Given the description of an element on the screen output the (x, y) to click on. 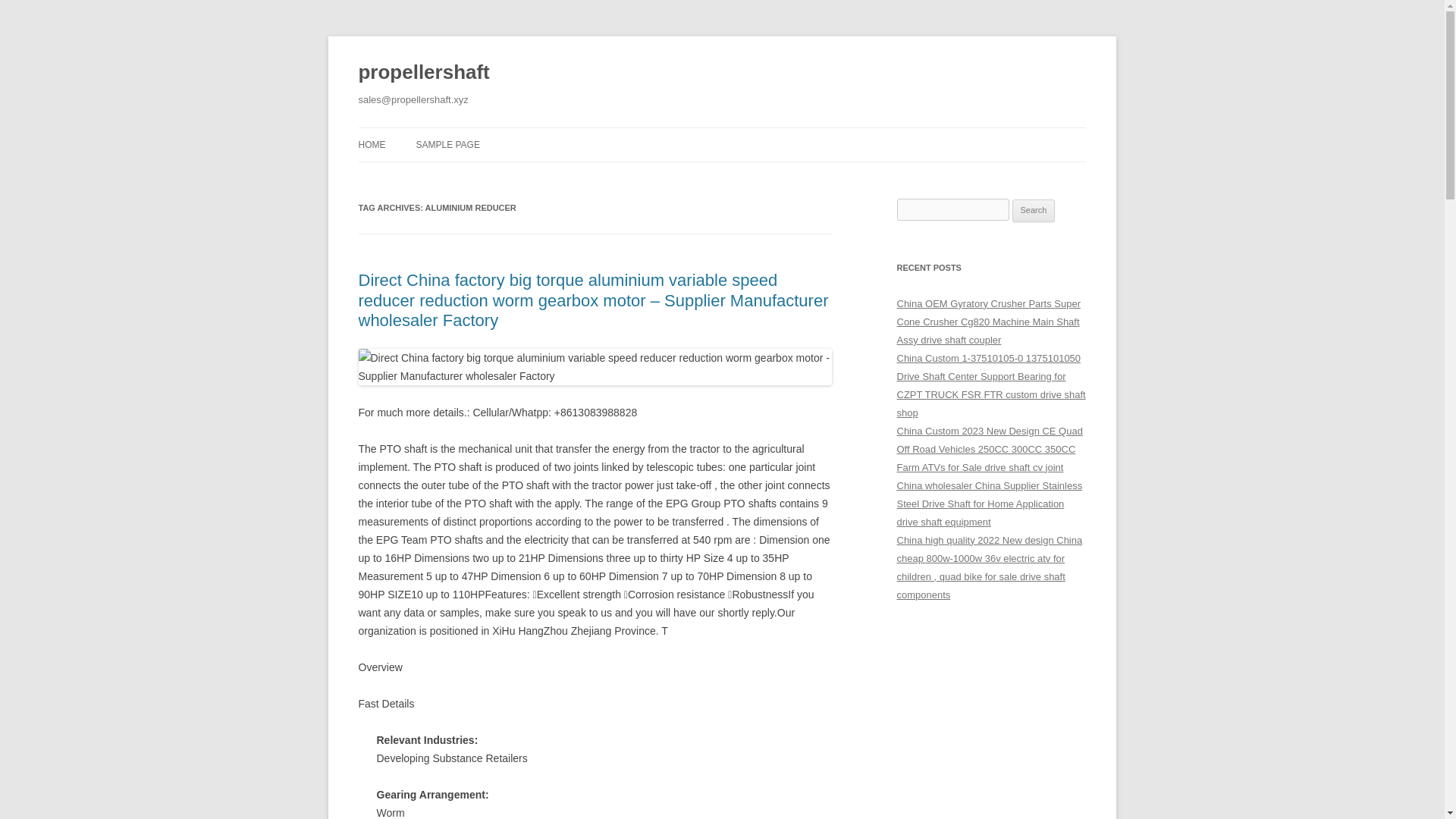
propellershaft (423, 72)
propellershaft (423, 72)
Search (1033, 210)
SAMPLE PAGE (446, 144)
